Given the description of an element on the screen output the (x, y) to click on. 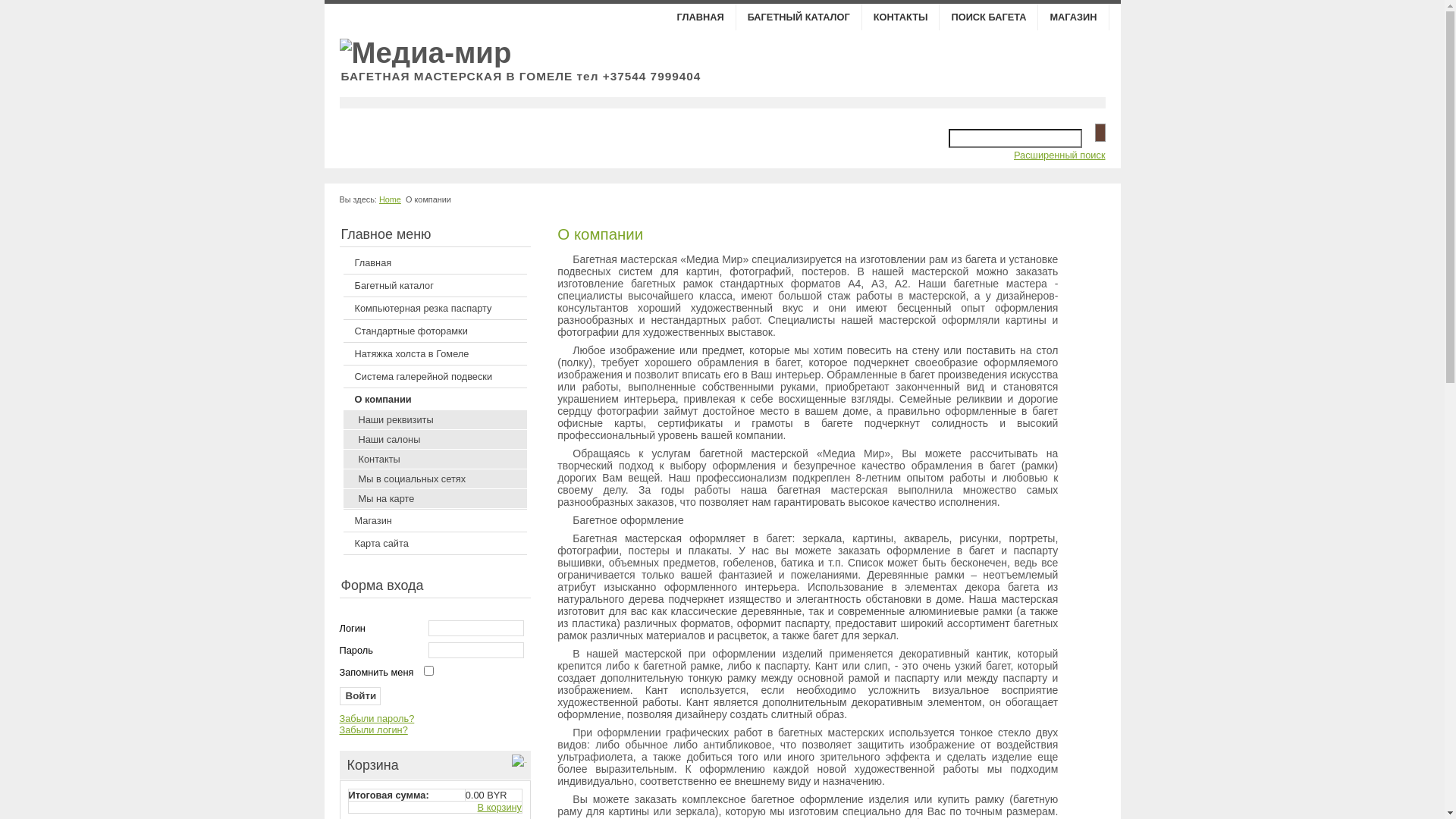
link Element type: text (684, 102)
Home Element type: text (390, 198)
